Given the description of an element on the screen output the (x, y) to click on. 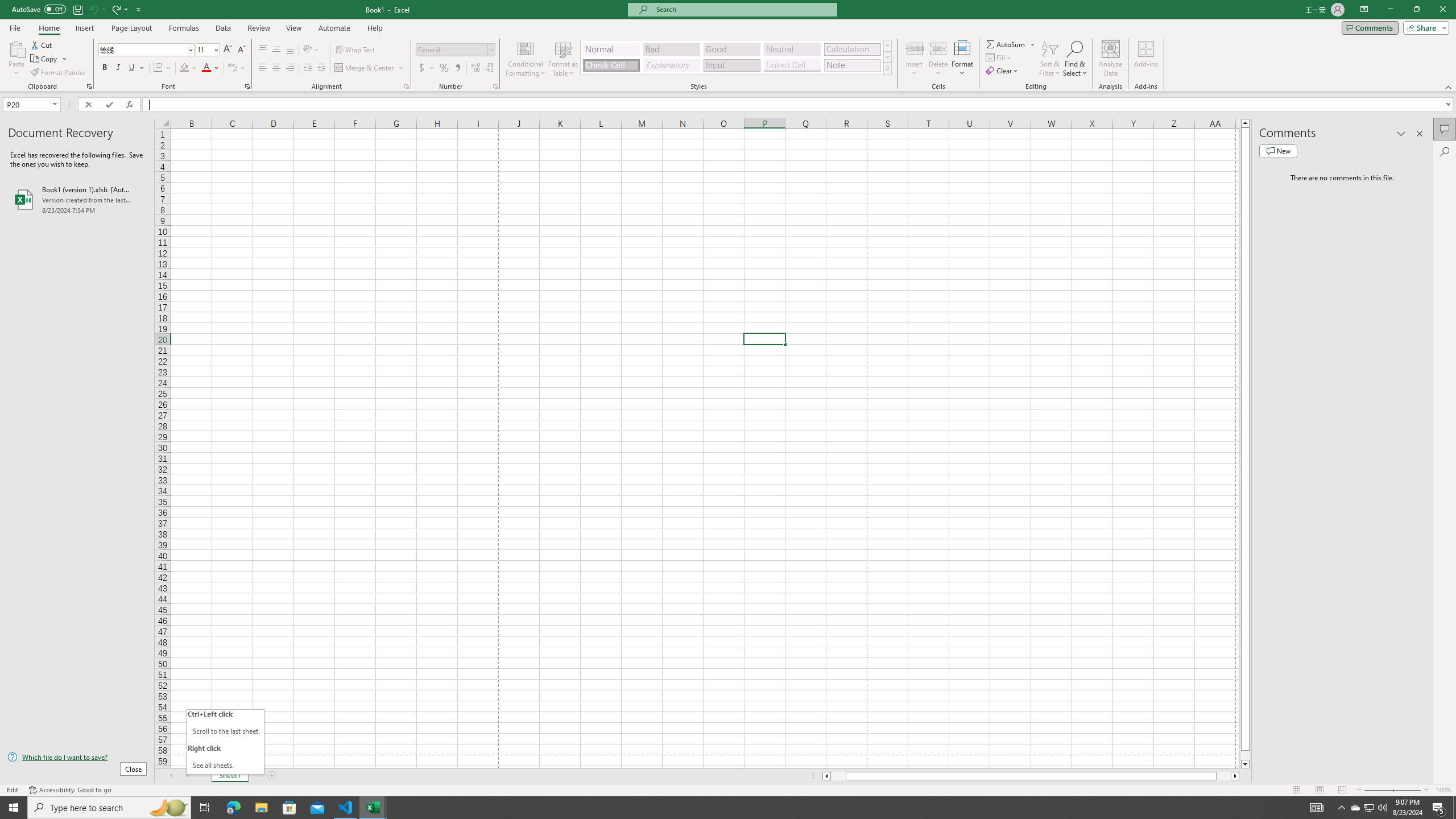
Italic (118, 67)
Decrease Decimal (489, 67)
Insert Cells (914, 48)
Linked Cell (791, 65)
Font (142, 49)
Copy (49, 58)
Fill (999, 56)
Format (962, 58)
Format Cell Font (247, 85)
